Given the description of an element on the screen output the (x, y) to click on. 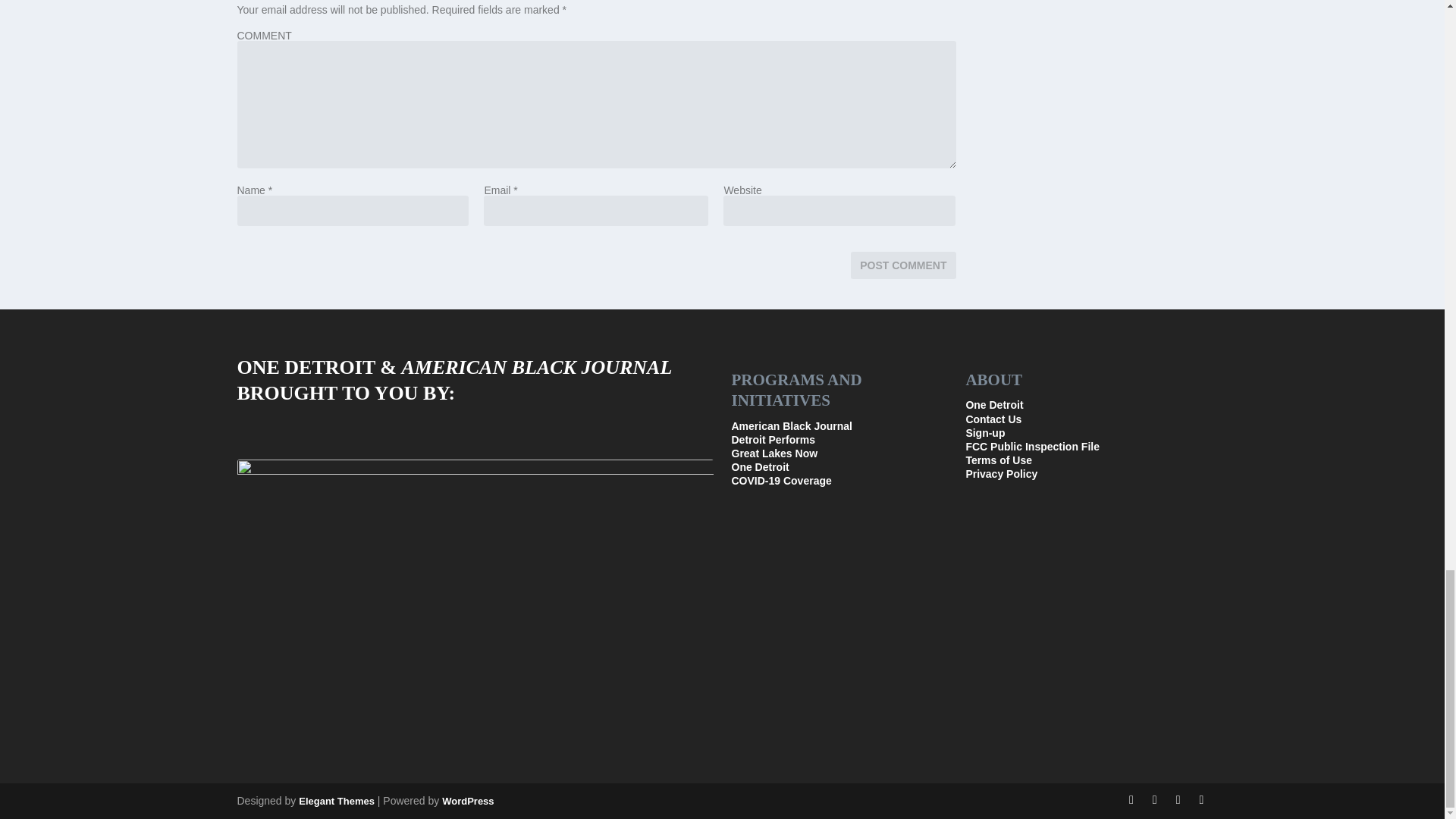
Premium WordPress Themes (336, 800)
Post Comment (902, 265)
